Given the description of an element on the screen output the (x, y) to click on. 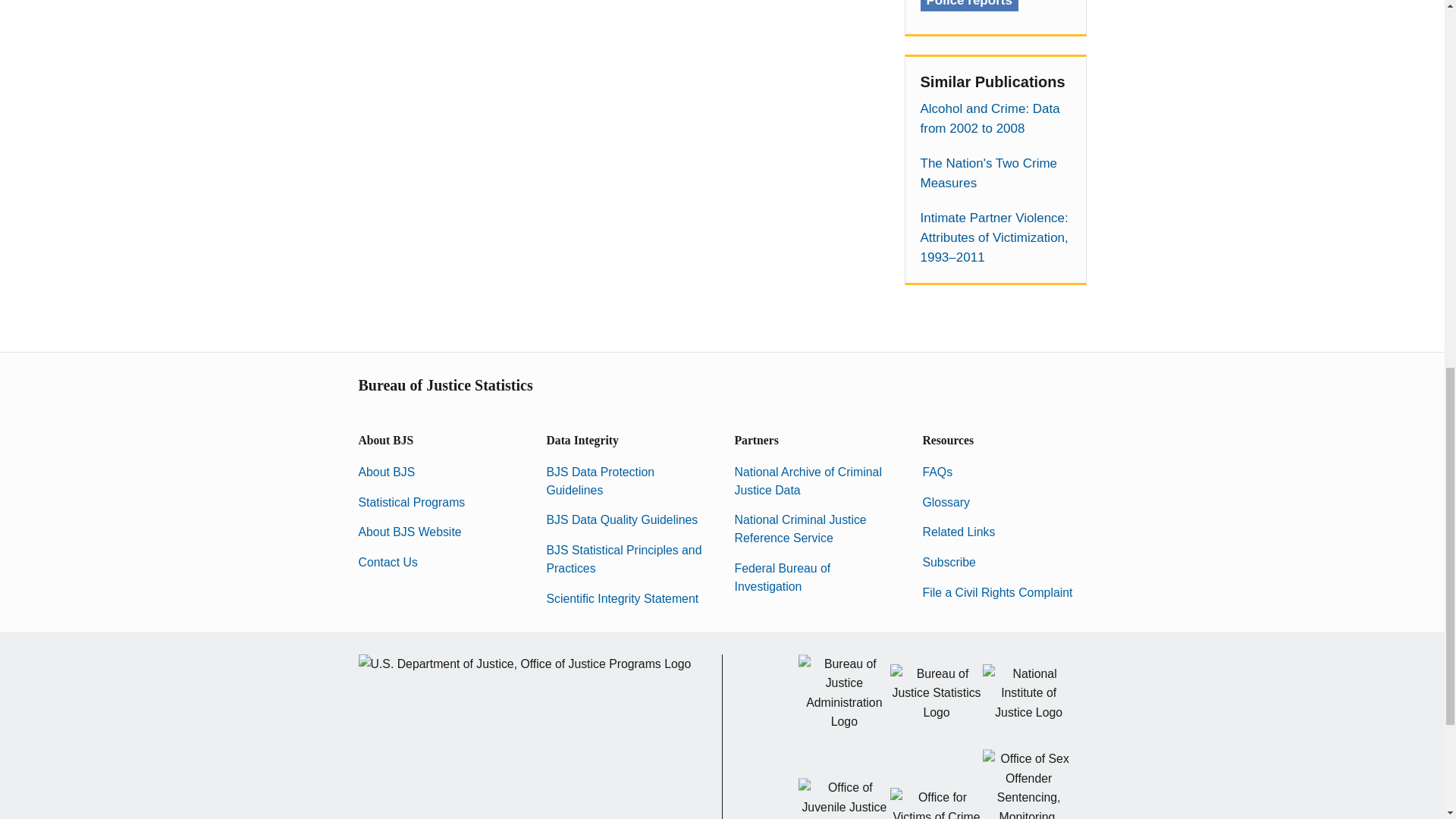
Alcohol and Crime: Data from 2002 to 2008 (995, 118)
The Nation's Two Crime Measures (995, 173)
Police reports (968, 5)
Alcohol and Crime: Data from 2002 to 2008 (995, 118)
